Given the description of an element on the screen output the (x, y) to click on. 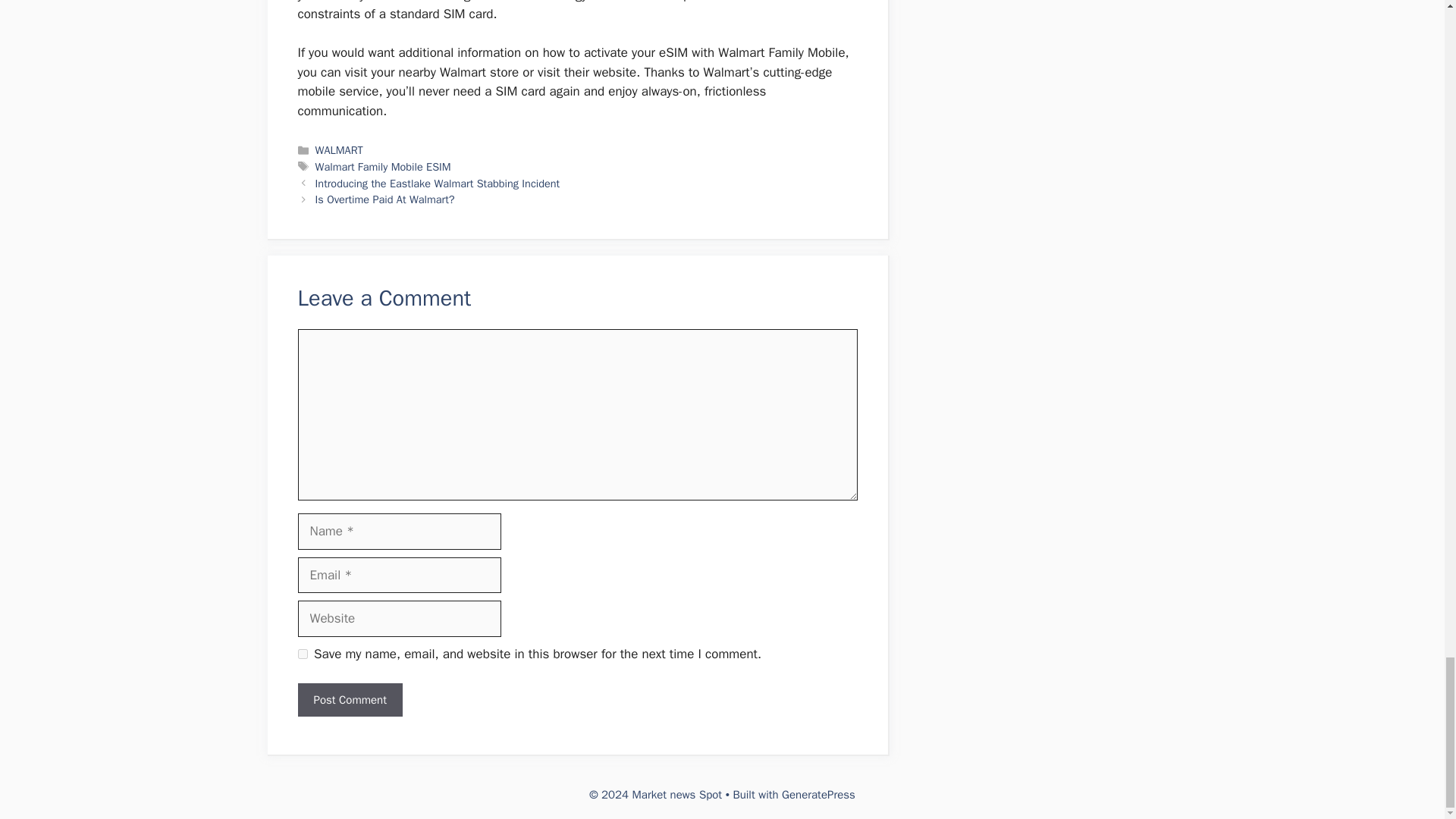
Post Comment (349, 700)
Walmart Family Mobile ESIM (383, 166)
GeneratePress (818, 794)
WALMART (338, 150)
Introducing the Eastlake Walmart Stabbing Incident (437, 183)
yes (302, 654)
Post Comment (349, 700)
Is Overtime Paid At Walmart? (384, 199)
